Given the description of an element on the screen output the (x, y) to click on. 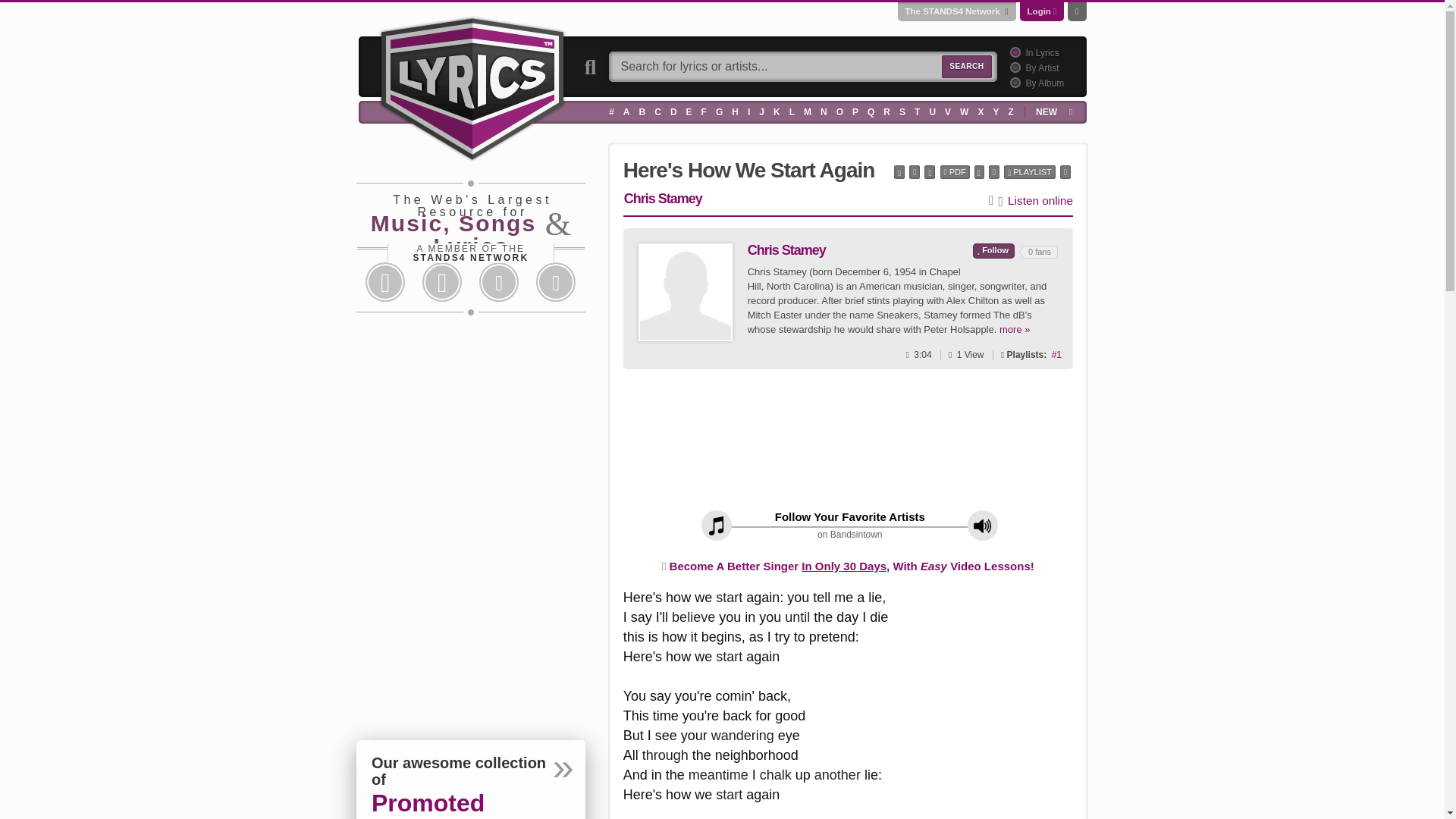
click to down the Here's How We Start Again lyrics as PDF (954, 172)
click to add your vote (993, 250)
Chris Stamey (685, 291)
Chris Stamey (685, 291)
click to add Here's How We Start Again to your playlist (1029, 172)
SEARCH (966, 66)
3 (1013, 81)
Lyrics.com (471, 86)
See all fans for this song (1056, 353)
Listen to this song on Amazon (1040, 200)
Login (1039, 10)
2 (1013, 67)
1 (1013, 51)
